Given the description of an element on the screen output the (x, y) to click on. 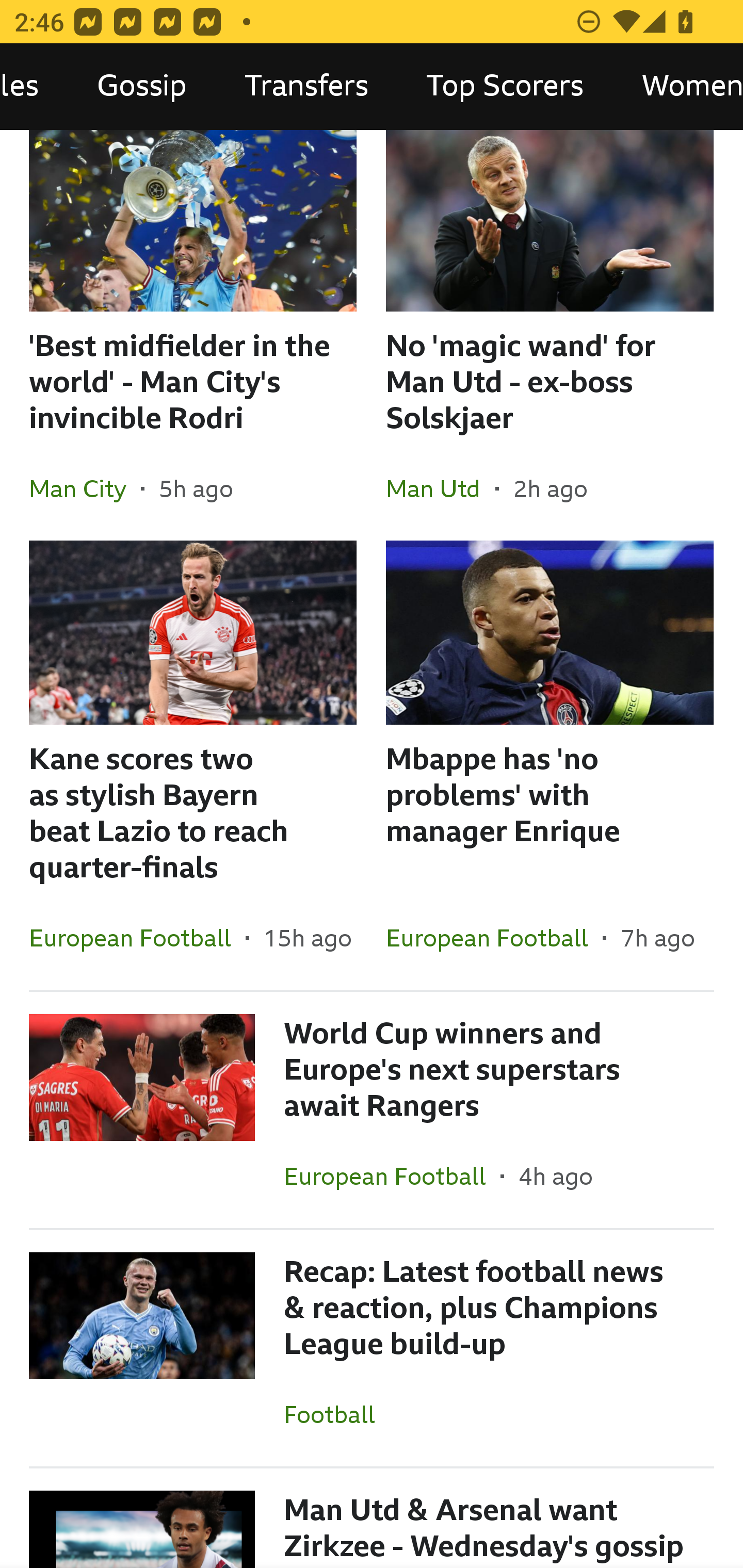
Gossip (141, 86)
Transfers (306, 86)
Top Scorers (504, 86)
Women (677, 86)
Man City In the section Man City (84, 487)
Man Utd In the section Man Utd (440, 487)
European Football In the section European Football (136, 937)
European Football In the section European Football (493, 937)
European Football In the section European Football (391, 1175)
